Given the description of an element on the screen output the (x, y) to click on. 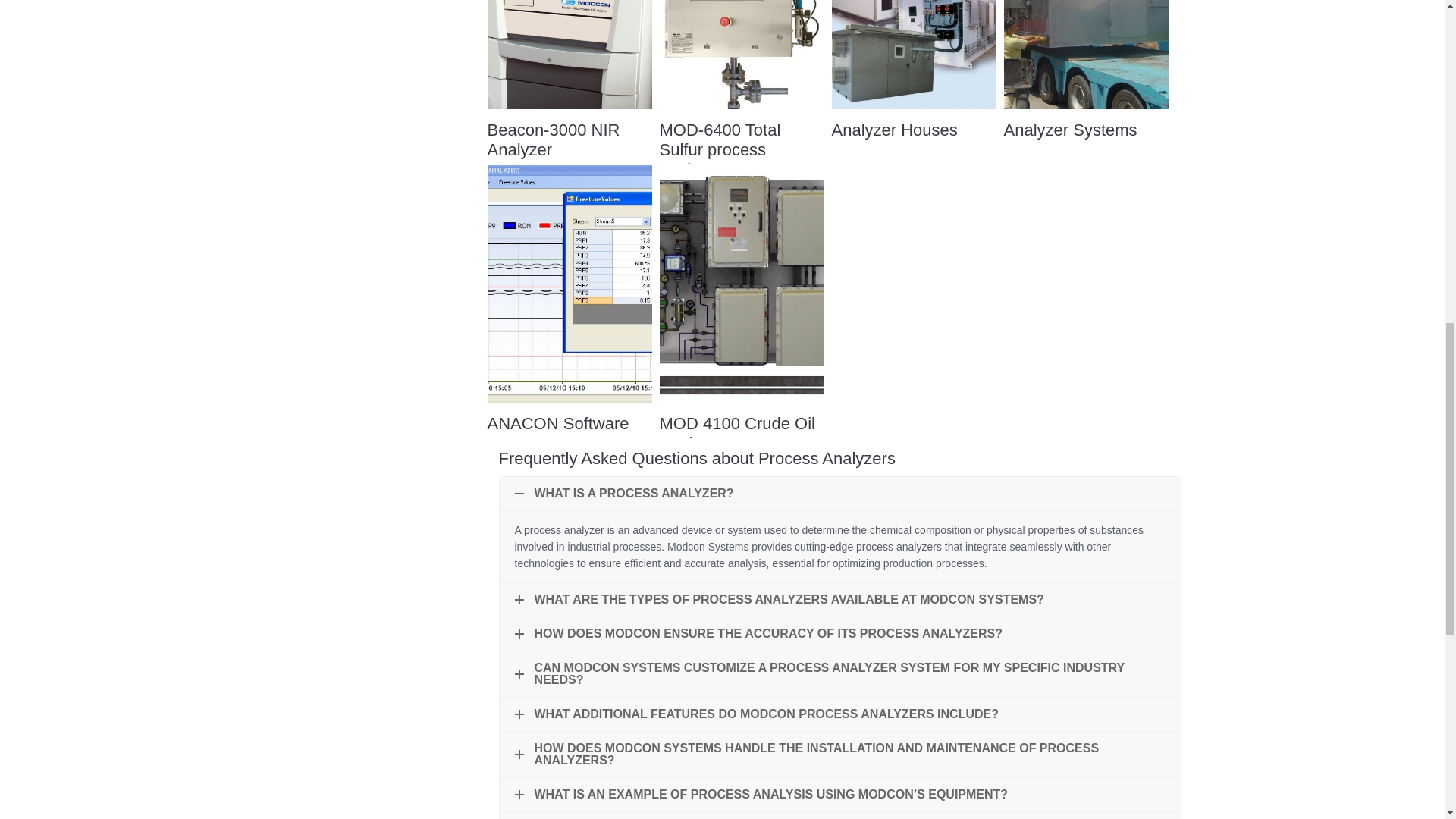
Beacon-3000 NIR Analyzer (553, 139)
Analyzer Systems (1070, 129)
MOD-6400 Total Sulfur process analyzer (719, 149)
Analyzer Houses (893, 129)
